Given the description of an element on the screen output the (x, y) to click on. 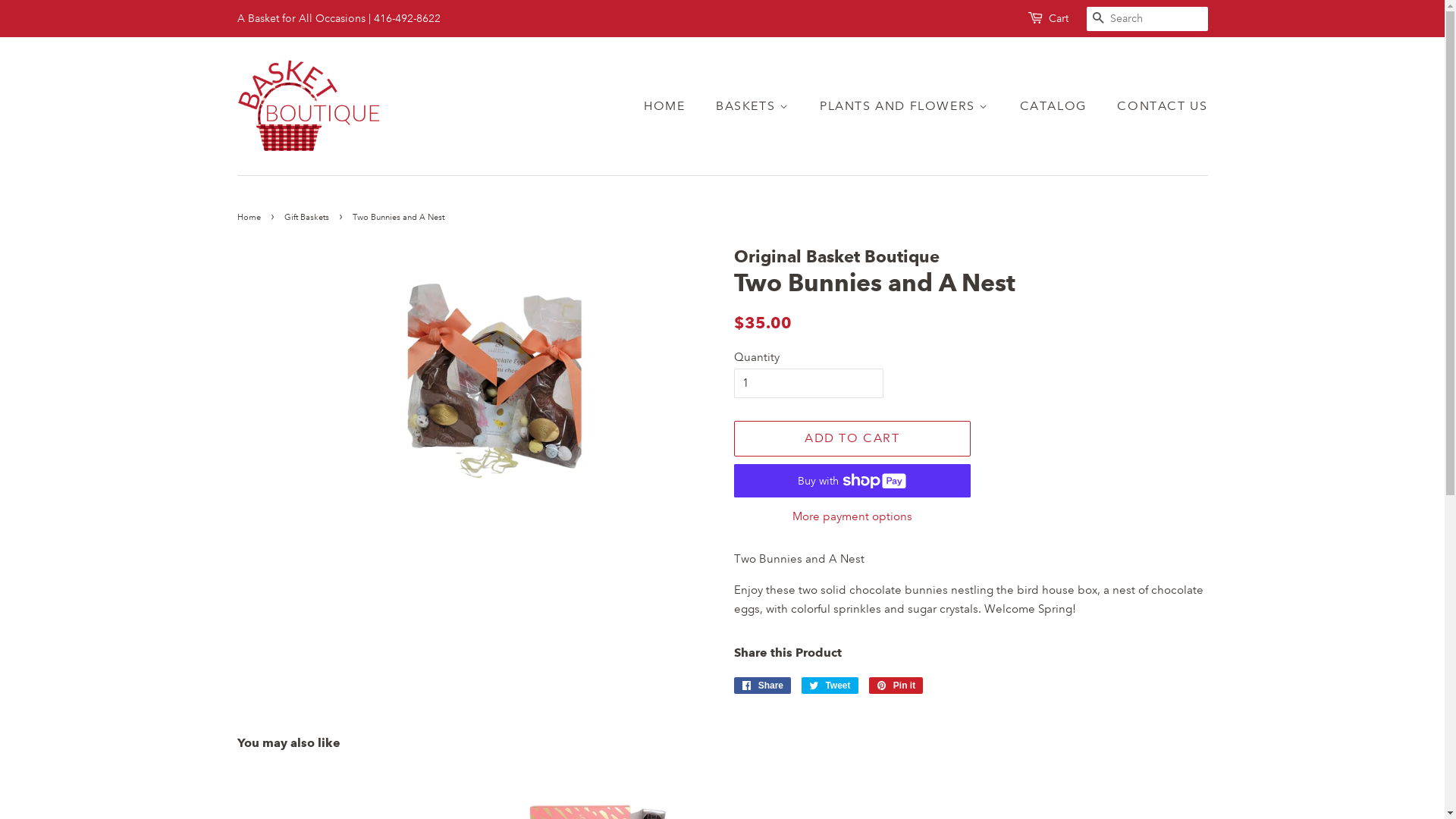
Pin it
Pin on Pinterest Element type: text (896, 685)
ADD TO CART Element type: text (852, 438)
Share
Share on Facebook Element type: text (762, 685)
Gift Baskets Element type: text (307, 217)
Cart Element type: text (1057, 18)
CONTACT US Element type: text (1156, 105)
HOME Element type: text (671, 105)
SEARCH Element type: text (1097, 18)
CATALOG Element type: text (1054, 105)
More payment options Element type: text (852, 516)
BASKETS Element type: text (753, 105)
Tweet
Tweet on Twitter Element type: text (829, 685)
PLANTS AND FLOWERS Element type: text (906, 105)
Home Element type: text (249, 217)
